Given the description of an element on the screen output the (x, y) to click on. 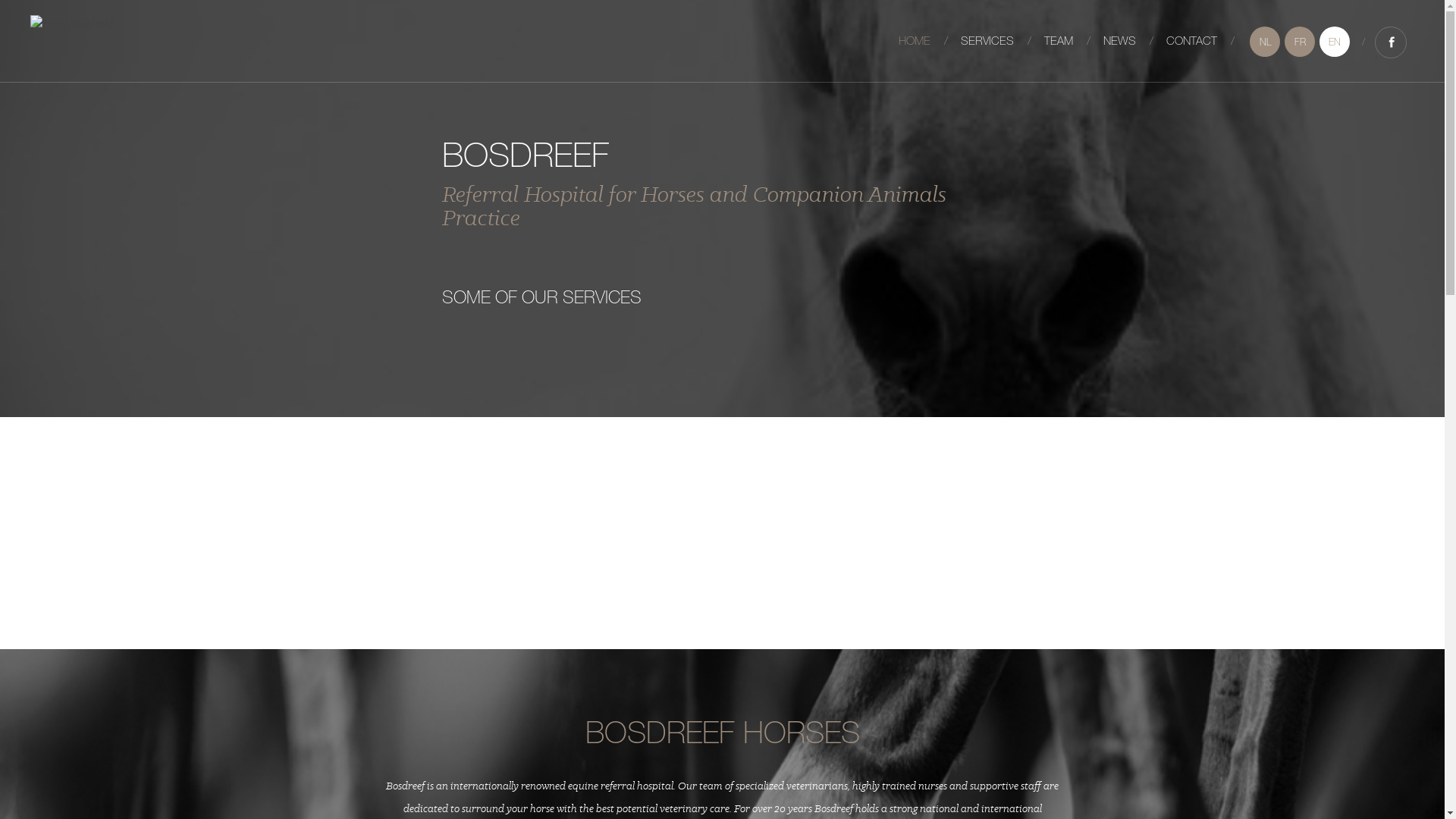
NL Element type: text (1264, 41)
HOME Element type: text (914, 41)
FR Element type: text (1299, 41)
NEWS Element type: text (1119, 41)
DIAGNOSTIC IMAGING Element type: text (1051, 378)
facebook Element type: hover (1390, 42)
INFORMATION REGARDING ADMISSION Element type: text (504, 494)
SERVICES Element type: text (987, 41)
EN Element type: text (1334, 41)
Logo Bosdreef Element type: hover (71, 23)
TEAM Element type: text (1058, 41)
CONTACT Element type: text (1191, 41)
INTERNAL MEDICINE Element type: text (879, 318)
ORTHOPEDICS Element type: text (670, 499)
